Given the description of an element on the screen output the (x, y) to click on. 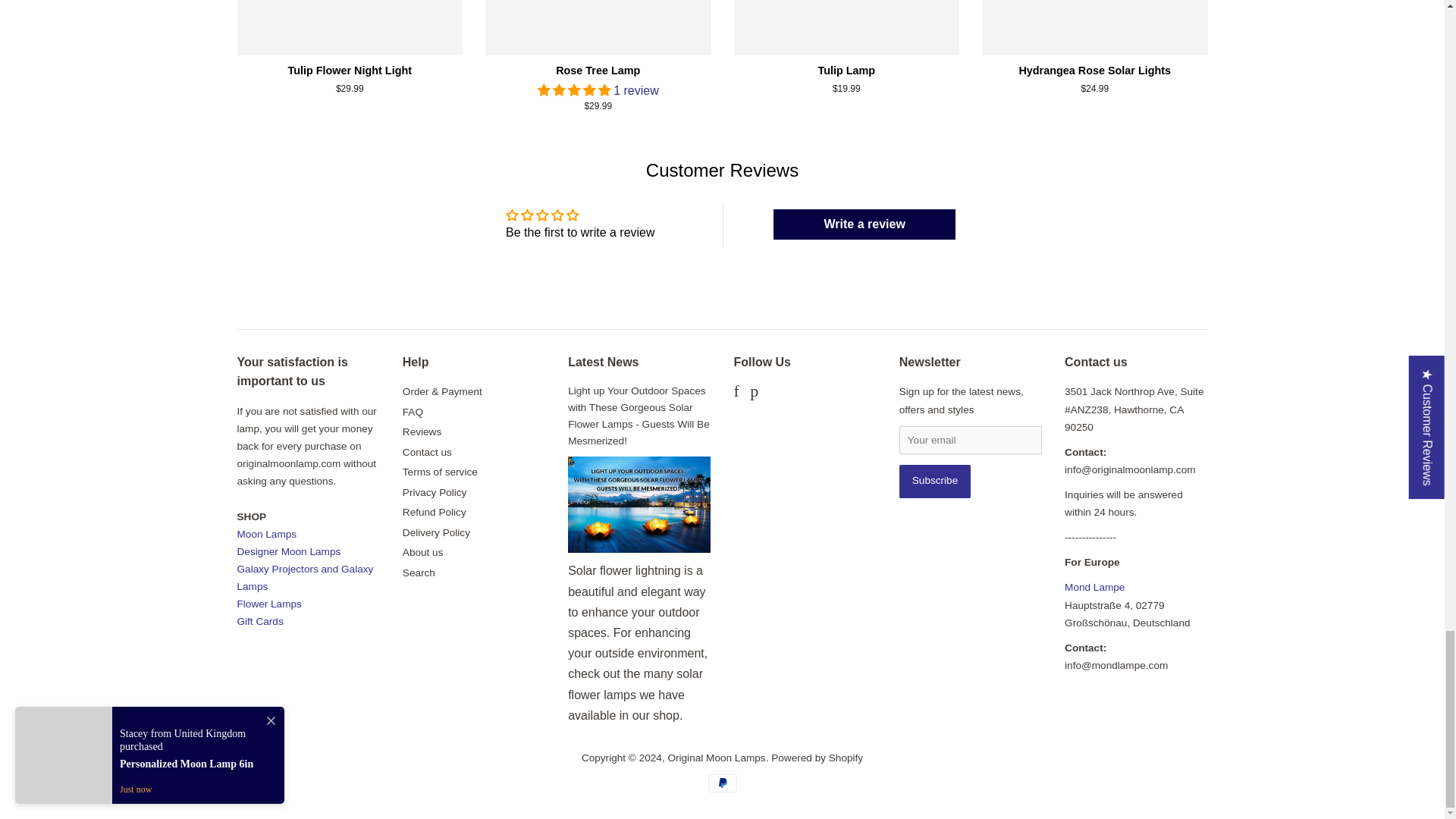
Subscribe (935, 481)
Gift Cards (258, 621)
Designer Moon Lamps (287, 551)
Flower Lamps (268, 603)
Galaxy Projectors and Galaxy Lamps (303, 577)
PayPal (721, 782)
Original Moon Lamps (266, 533)
